Given the description of an element on the screen output the (x, y) to click on. 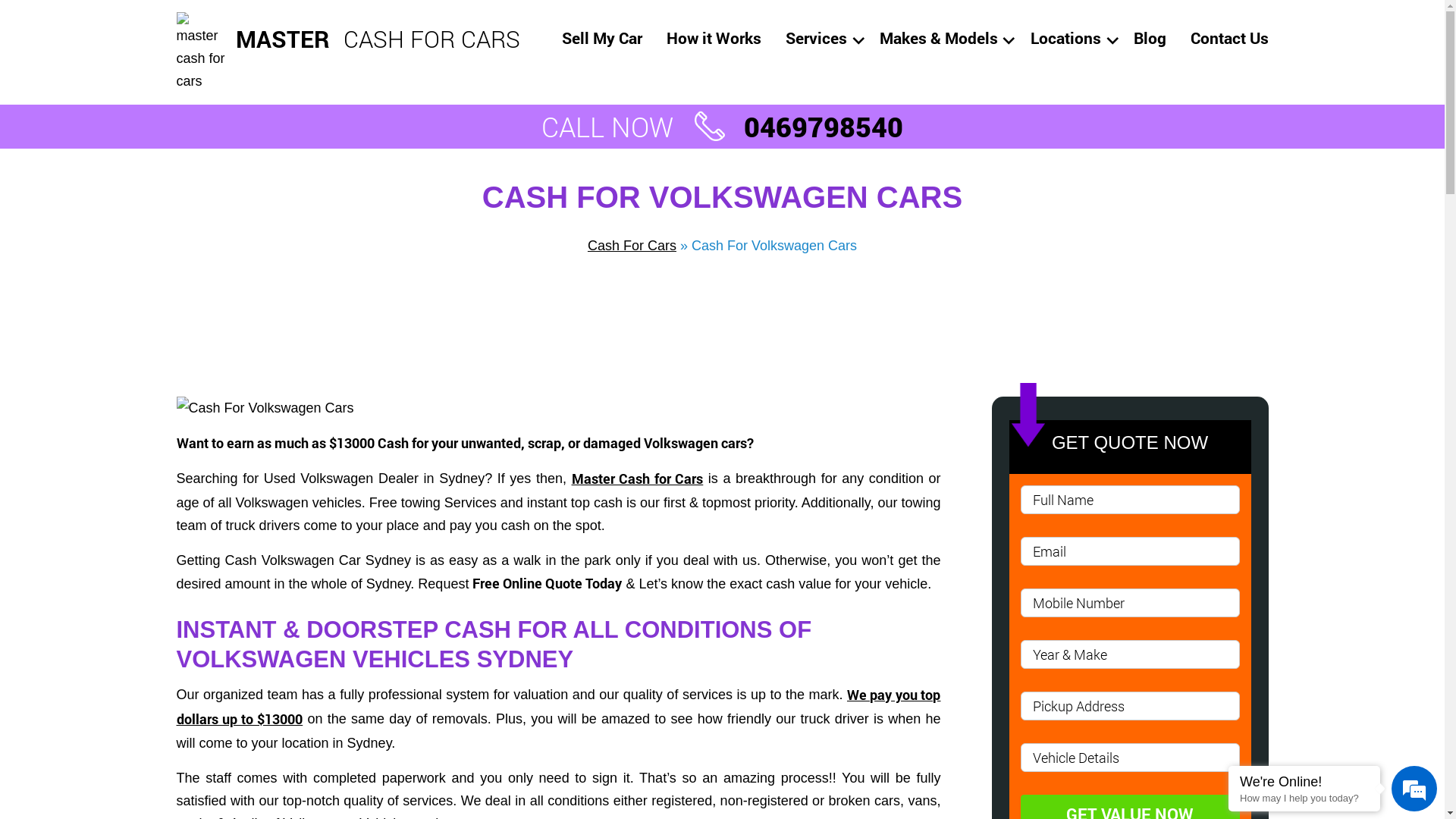
We pay you top dollars up to $13000 Element type: text (557, 707)
0469798540 Element type: text (791, 121)
Sell My Car Element type: text (601, 37)
Services Element type: text (816, 37)
Master Cash for Cars Element type: text (637, 478)
Cash For Cars Element type: text (631, 245)
Locations Element type: text (1064, 37)
Blog Element type: text (1148, 37)
Makes & Models Element type: text (938, 37)
Contact Us Element type: text (1229, 37)
How it Works Element type: text (712, 37)
